Given the description of an element on the screen output the (x, y) to click on. 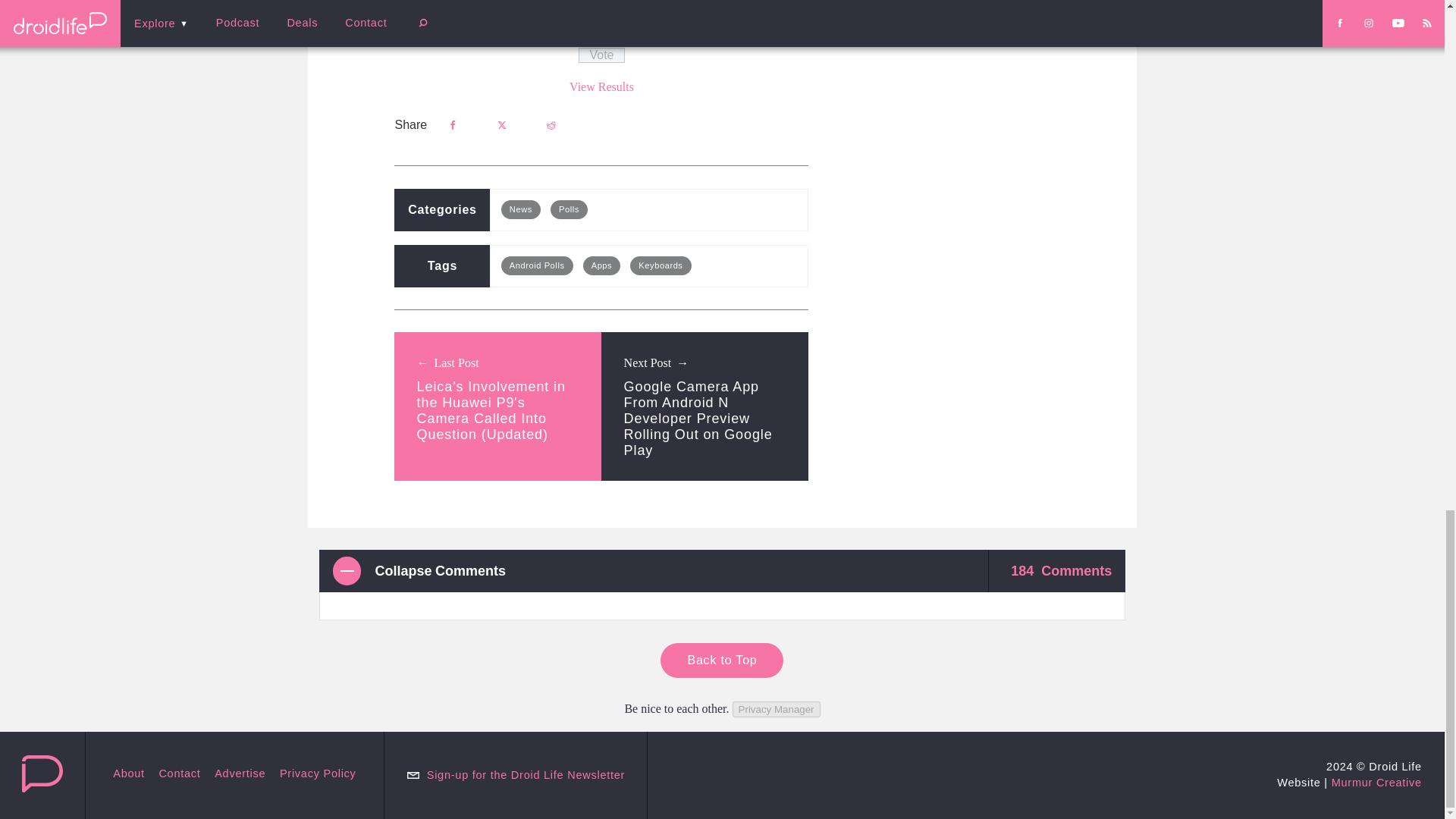
1784 (430, 5)
1785 (430, 23)
View Results Of This Poll (601, 86)
   Vote    (601, 55)
